Given the description of an element on the screen output the (x, y) to click on. 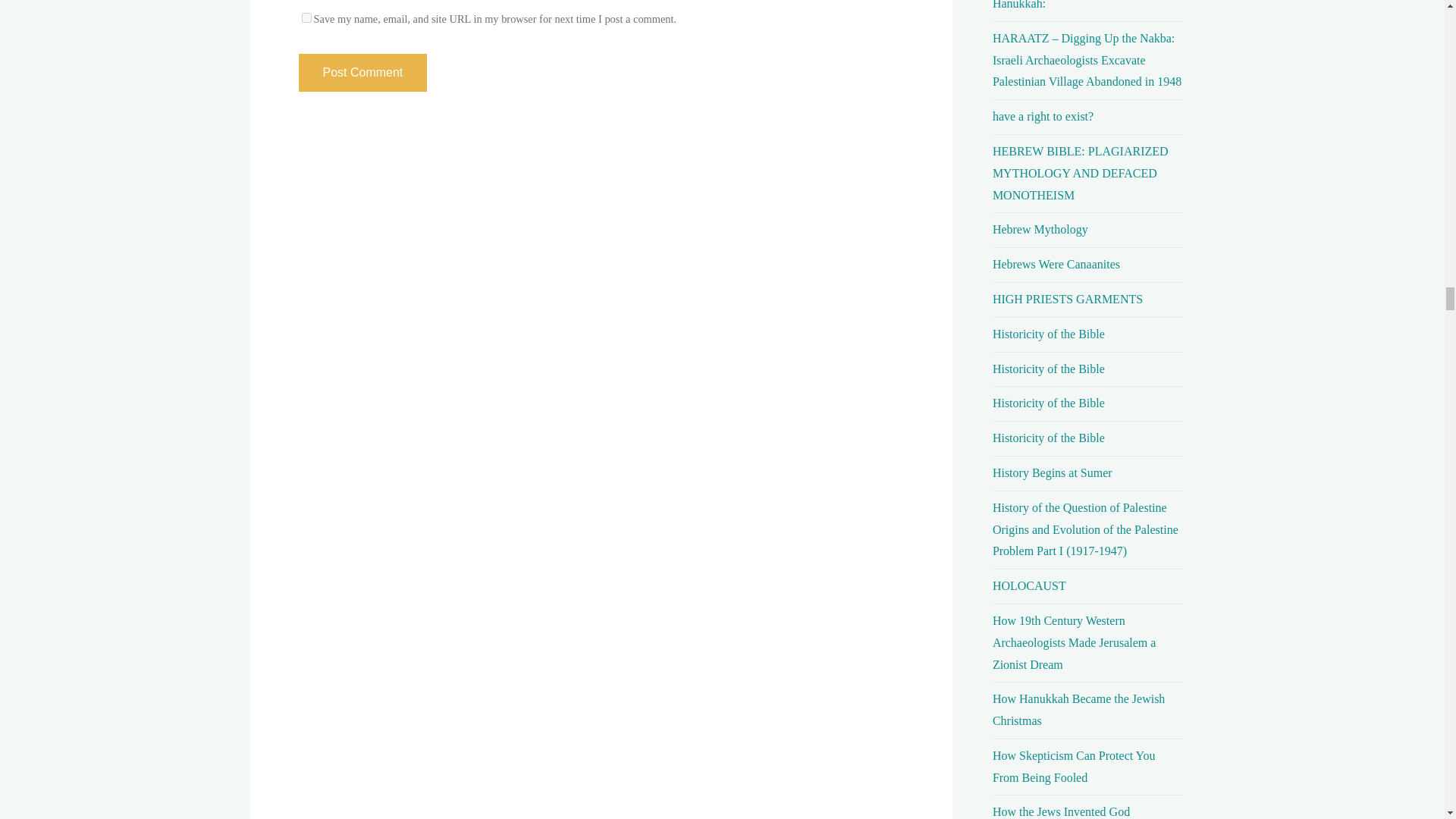
Post Comment (363, 72)
yes (306, 17)
Post Comment (363, 72)
